Given the description of an element on the screen output the (x, y) to click on. 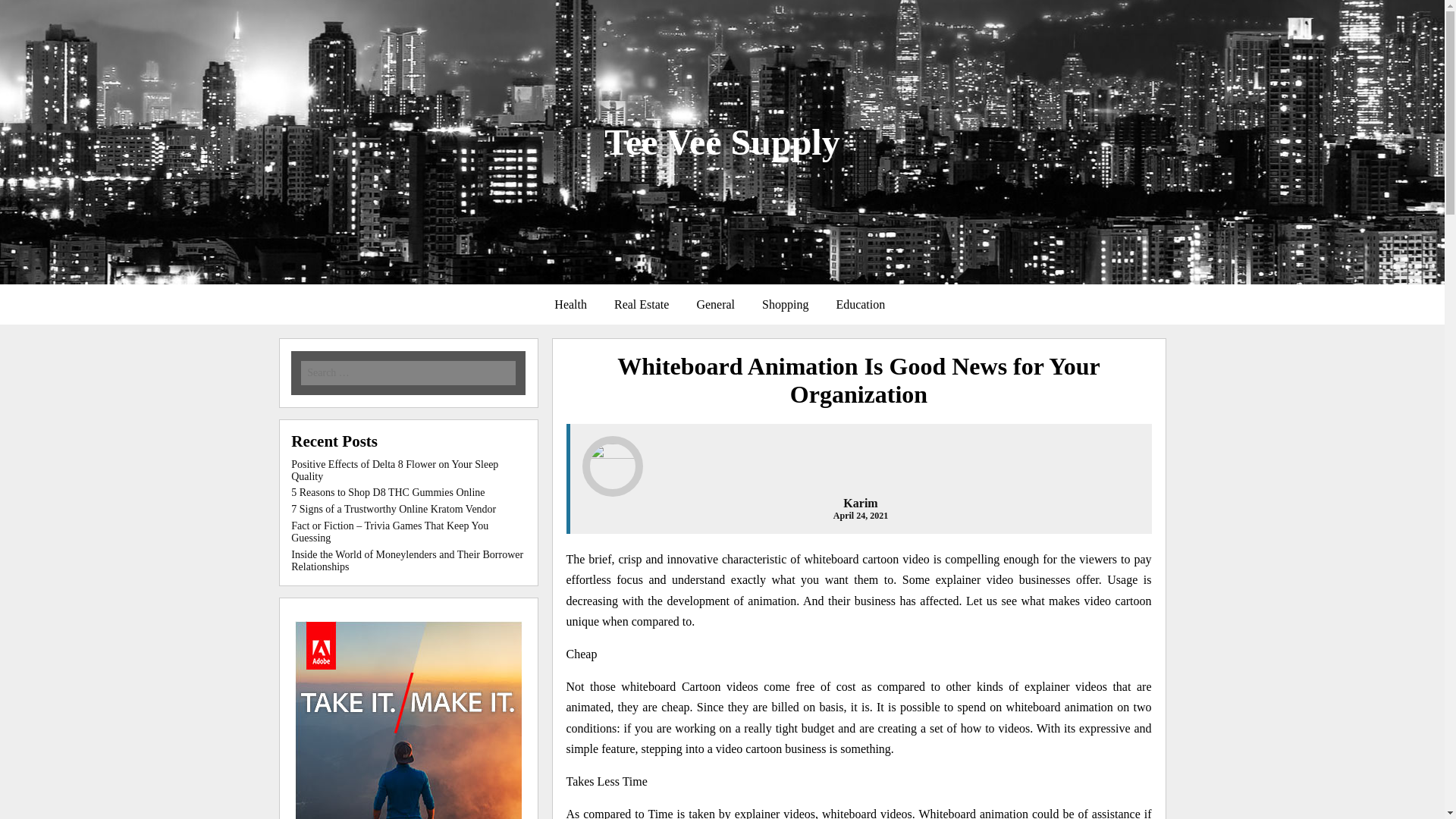
Tee Vee Supply (722, 142)
Education (860, 304)
5 Reasons to Shop D8 THC Gummies Online (387, 491)
Positive Effects of Delta 8 Flower on Your Sleep Quality (394, 470)
Karim (860, 502)
Health (569, 304)
7:04 am (860, 515)
7 Signs of a Trustworthy Online Kratom Vendor (393, 509)
General (715, 304)
View all posts by Karim (860, 502)
Search (216, 11)
Shopping (785, 304)
Real Estate (641, 304)
April 24, 2021 (860, 515)
